Given the description of an element on the screen output the (x, y) to click on. 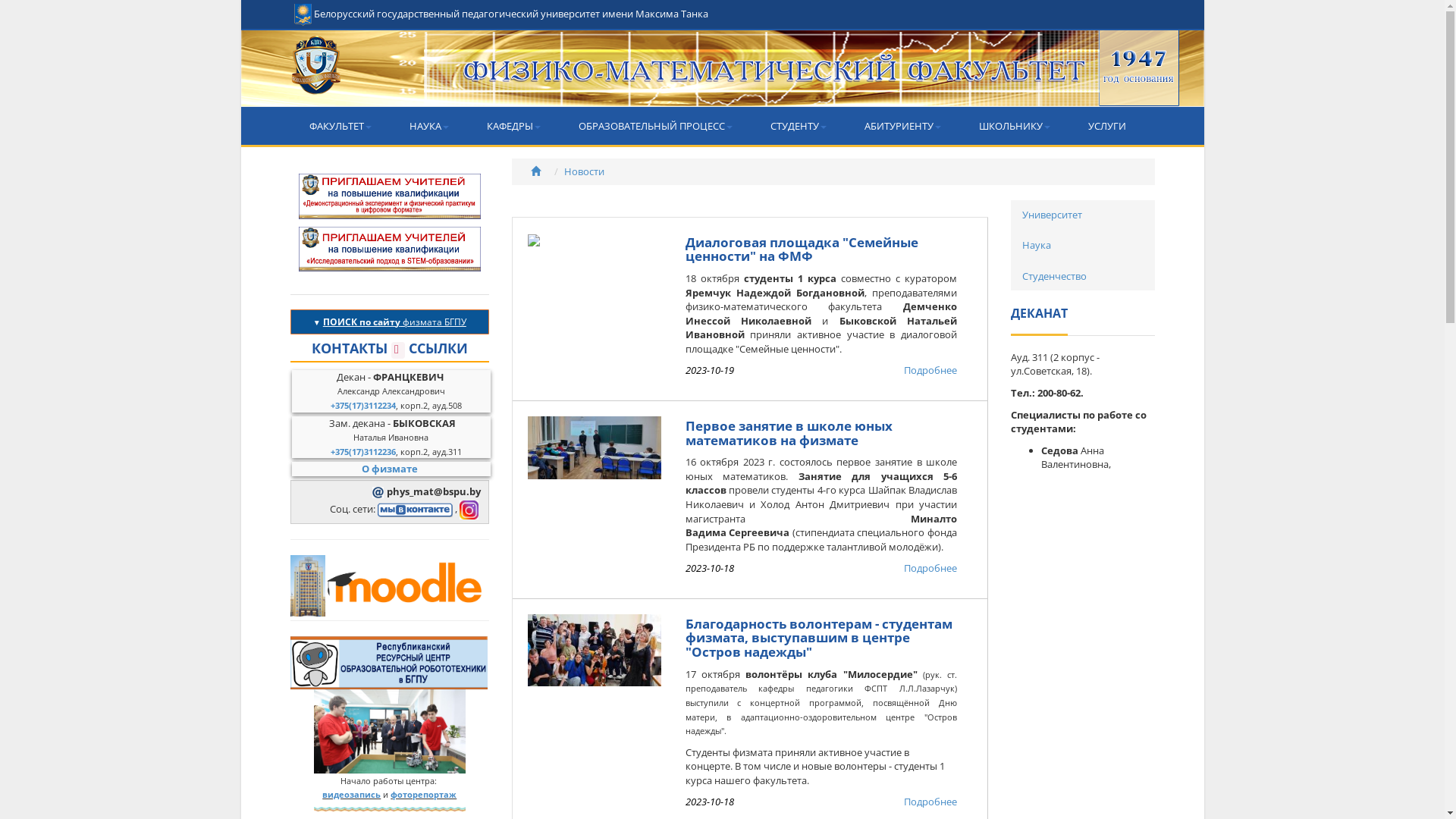
+375(17)3112234 Element type: text (362, 405)
+375(17)3112236 Element type: text (362, 451)
